Given the description of an element on the screen output the (x, y) to click on. 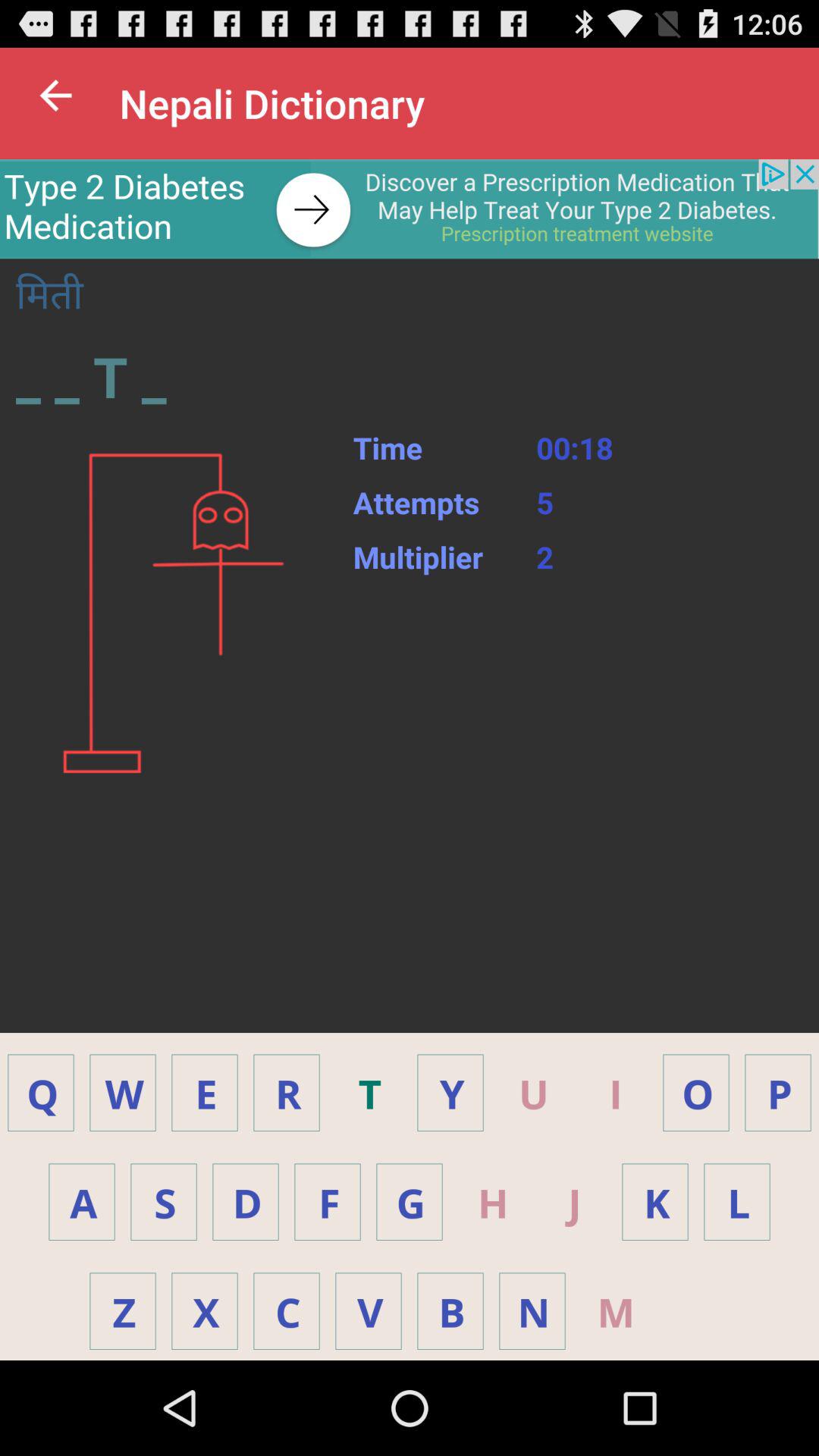
sponsored content (409, 208)
